Given the description of an element on the screen output the (x, y) to click on. 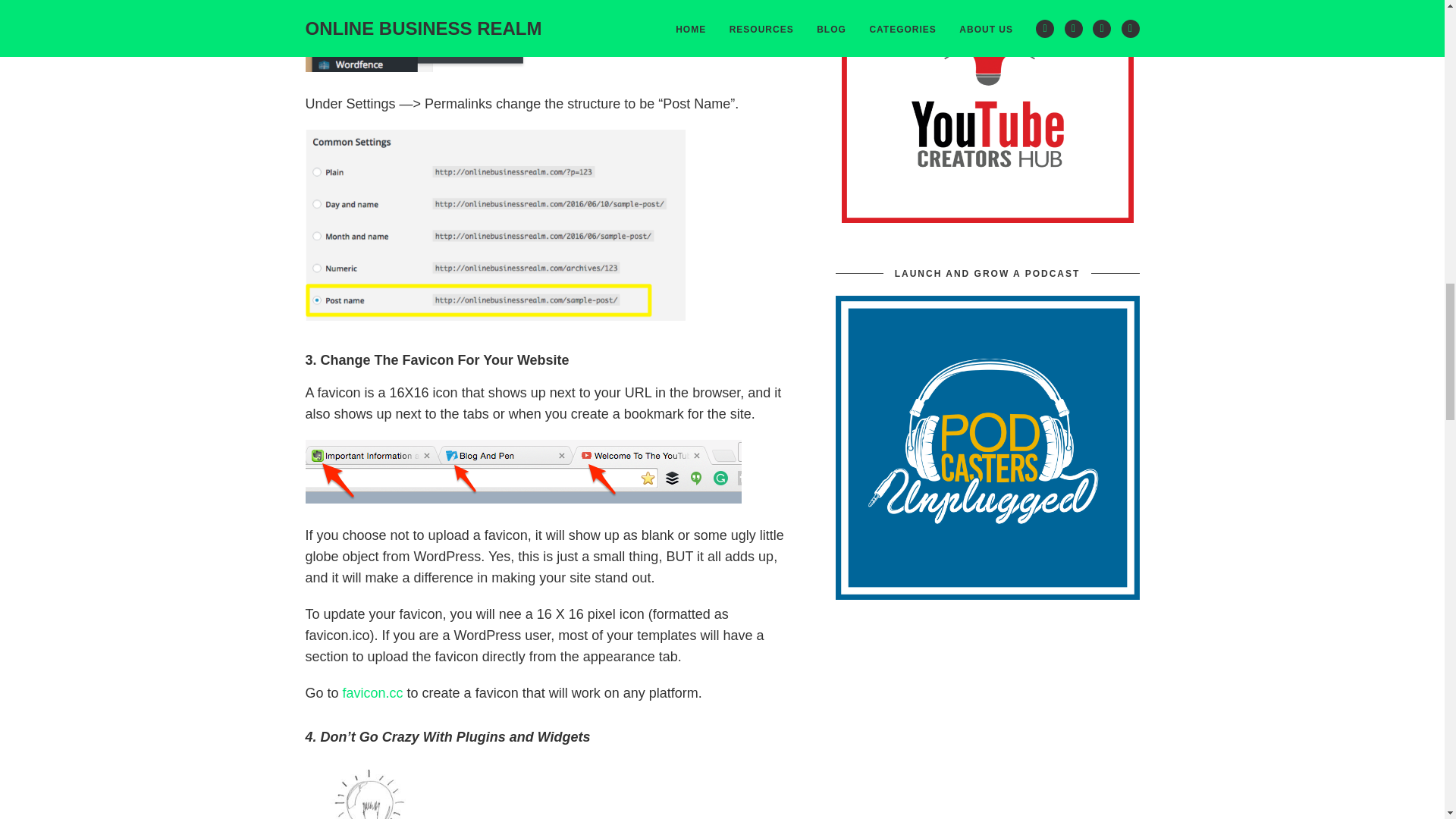
favicon.cc (372, 693)
